Given the description of an element on the screen output the (x, y) to click on. 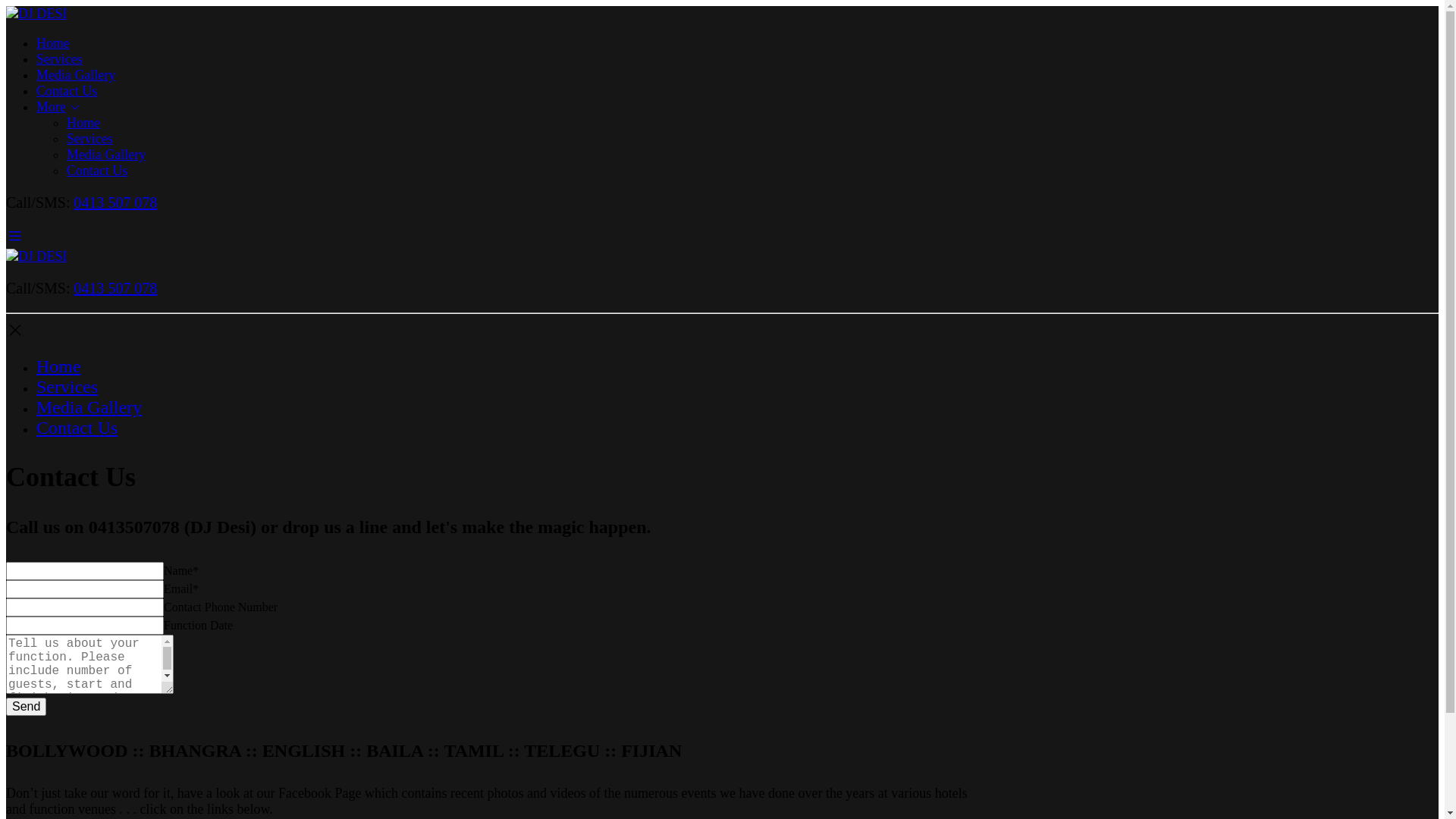
More Element type: text (506, 107)
Media Gallery Element type: text (105, 154)
Home Element type: text (58, 366)
Services Element type: text (89, 138)
Home Element type: text (83, 122)
Home Element type: text (52, 42)
Send Element type: text (26, 706)
0413 507 078 Element type: text (114, 202)
Services Element type: text (59, 58)
Services Element type: text (66, 386)
0413 507 078 Element type: text (114, 287)
Contact Us Element type: text (76, 427)
Media Gallery Element type: text (75, 74)
Media Gallery Element type: text (88, 407)
Contact Us Element type: text (97, 170)
Contact Us Element type: text (66, 90)
DJ DESI Element type: hover (36, 255)
DJ DESI Element type: hover (36, 13)
